Given the description of an element on the screen output the (x, y) to click on. 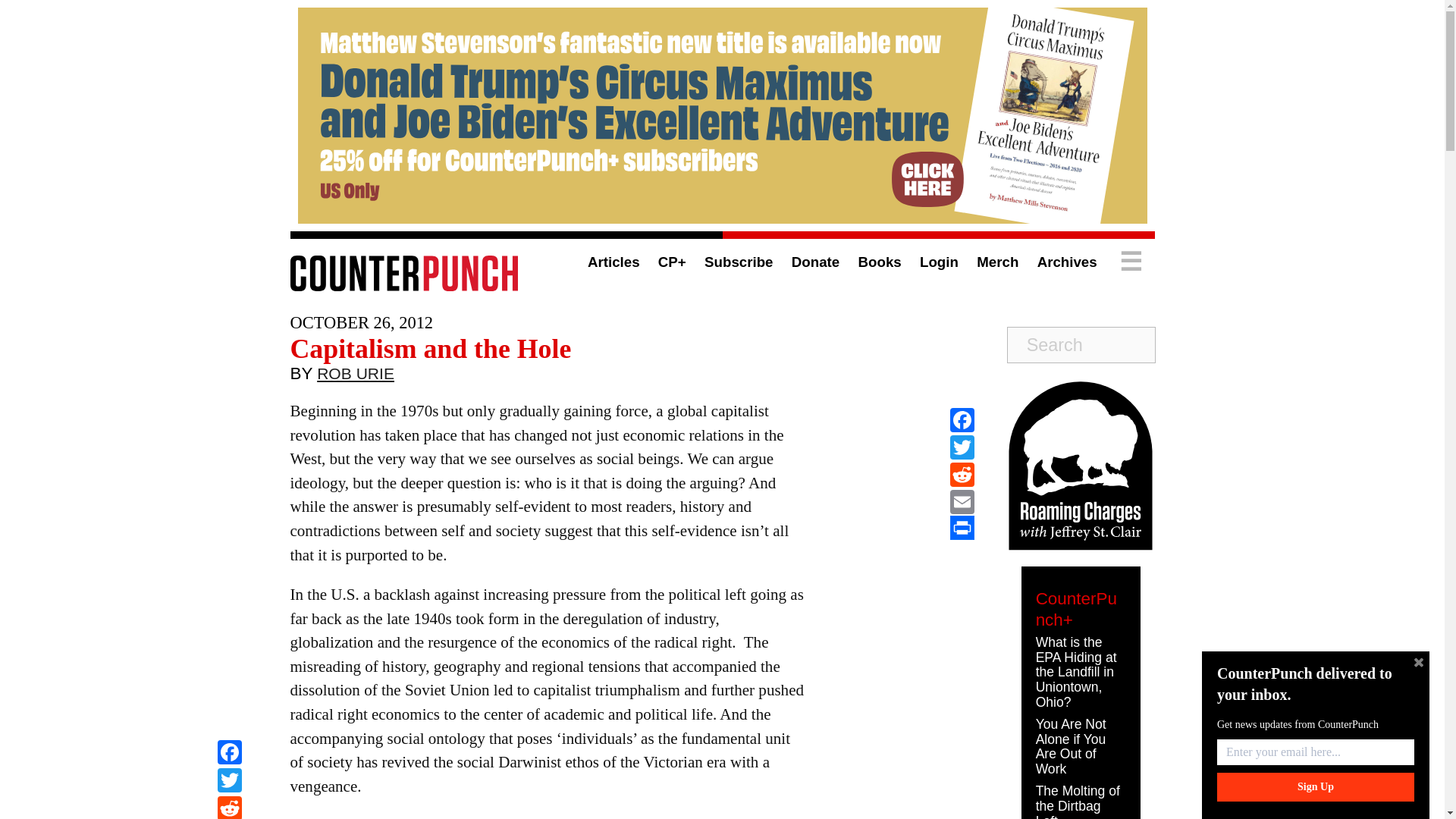
Email (962, 501)
Archives (1066, 261)
2012-10-26 (360, 322)
Reddit (229, 807)
Close (1418, 662)
Merch (996, 261)
Facebook (962, 420)
Subscribe (738, 261)
Login (939, 261)
Sign Up (1315, 787)
Capitalism and the Hole (429, 348)
Articles (614, 261)
Donate (816, 261)
What is the EPA Hiding at the Landfill in Uniontown, Ohio? (1075, 672)
Facebook (229, 754)
